Given the description of an element on the screen output the (x, y) to click on. 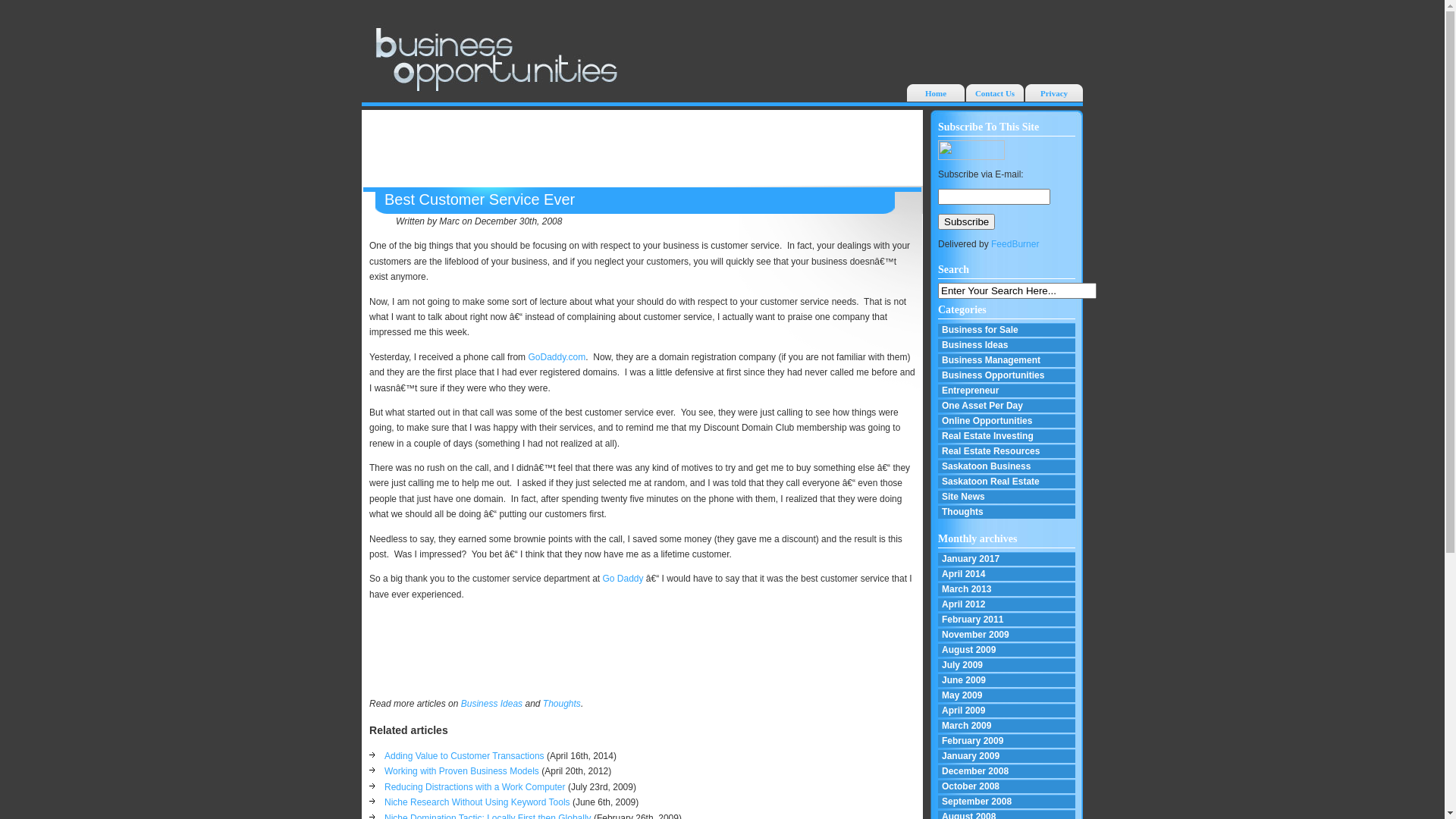
Real Estate Investing Element type: text (1006, 436)
Adding Value to Customer Transactions Element type: text (464, 755)
Real Estate Resources Element type: text (1006, 451)
Best Customer Service Ever Element type: text (479, 199)
Site News Element type: text (1006, 497)
January 2009 Element type: text (1006, 756)
Saskatoon Business Element type: text (1006, 466)
Subscribe Element type: text (966, 221)
One Asset Per Day Element type: text (1006, 406)
Saskatoon Real Estate Element type: text (1006, 481)
Advertisement Element type: hover (639, 649)
April 2012 Element type: text (1006, 604)
April 2014 Element type: text (1006, 574)
FeedBurner Element type: text (1014, 243)
Thoughts Element type: text (561, 703)
October 2008 Element type: text (1006, 786)
Online Opportunities Element type: text (1006, 421)
February 2011 Element type: text (1006, 619)
Business Opportunities Element type: text (1006, 375)
December 2008 Element type: text (1006, 771)
Business for Sale Element type: text (1006, 330)
March 2009 Element type: text (1006, 726)
Entrepreneur Element type: text (1006, 390)
Home Element type: text (935, 92)
GoDaddy.com Element type: text (556, 356)
Niche Research Without Using Keyword Tools Element type: text (477, 802)
Thoughts Element type: text (1006, 512)
Working with Proven Business Models Element type: text (461, 770)
Bizops Element type: hover (495, 58)
Reducing Distractions with a Work Computer Element type: text (474, 786)
November 2009 Element type: text (1006, 635)
August 2009 Element type: text (1006, 650)
Business Ideas Element type: text (1006, 345)
Business Management Element type: text (1006, 360)
July 2009 Element type: text (1006, 665)
Go Daddy Element type: text (622, 578)
April 2009 Element type: text (1006, 710)
Business Ideas Element type: text (491, 703)
February 2009 Element type: text (1006, 741)
June 2009 Element type: text (1006, 680)
May 2009 Element type: text (1006, 695)
Privacy Element type: text (1053, 92)
Advertisement Element type: hover (642, 147)
Contact Us Element type: text (994, 92)
September 2008 Element type: text (1006, 801)
January 2017 Element type: text (1006, 559)
March 2013 Element type: text (1006, 589)
